Given the description of an element on the screen output the (x, y) to click on. 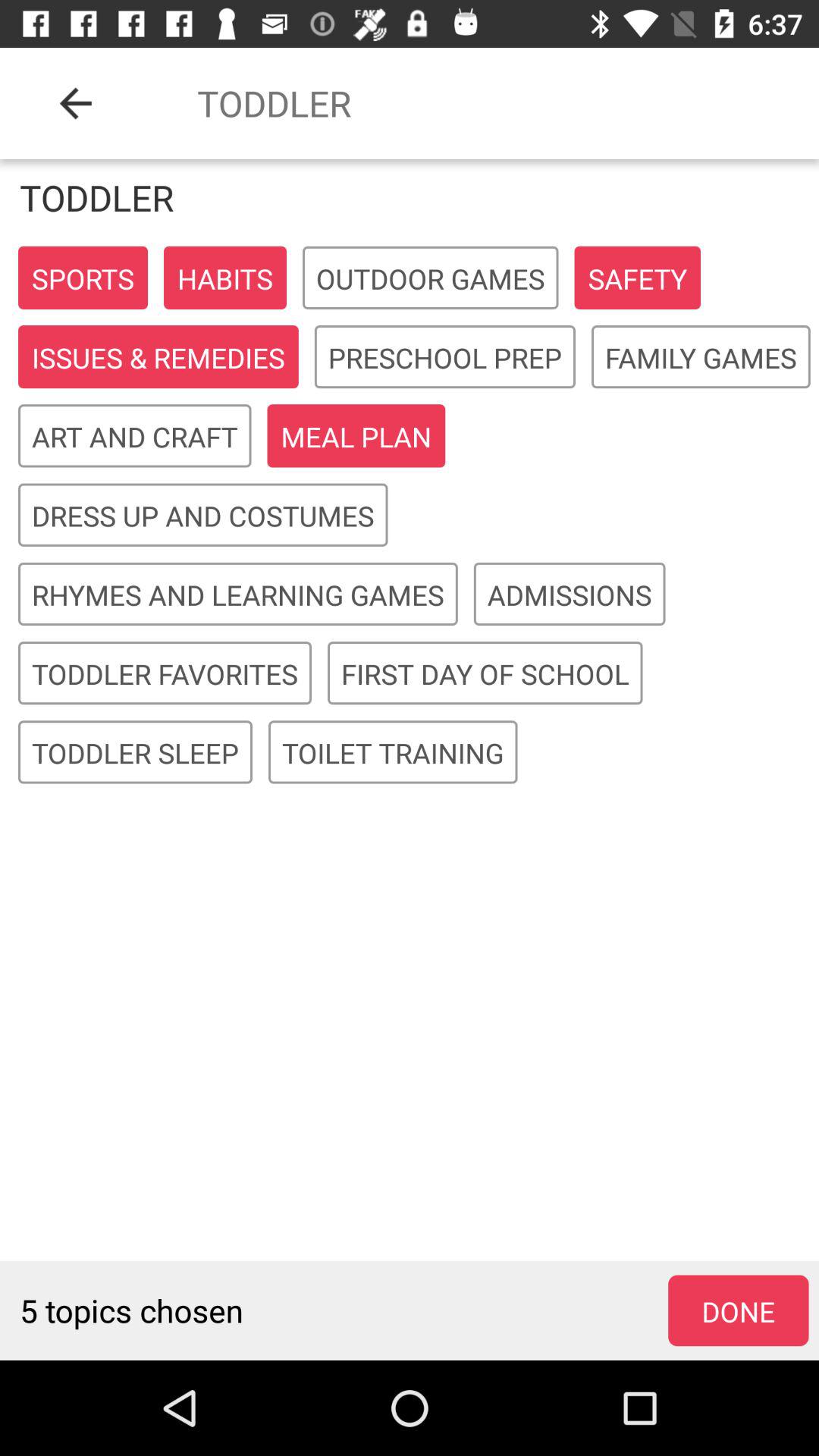
launch icon next to issues & remedies item (444, 357)
